Given the description of an element on the screen output the (x, y) to click on. 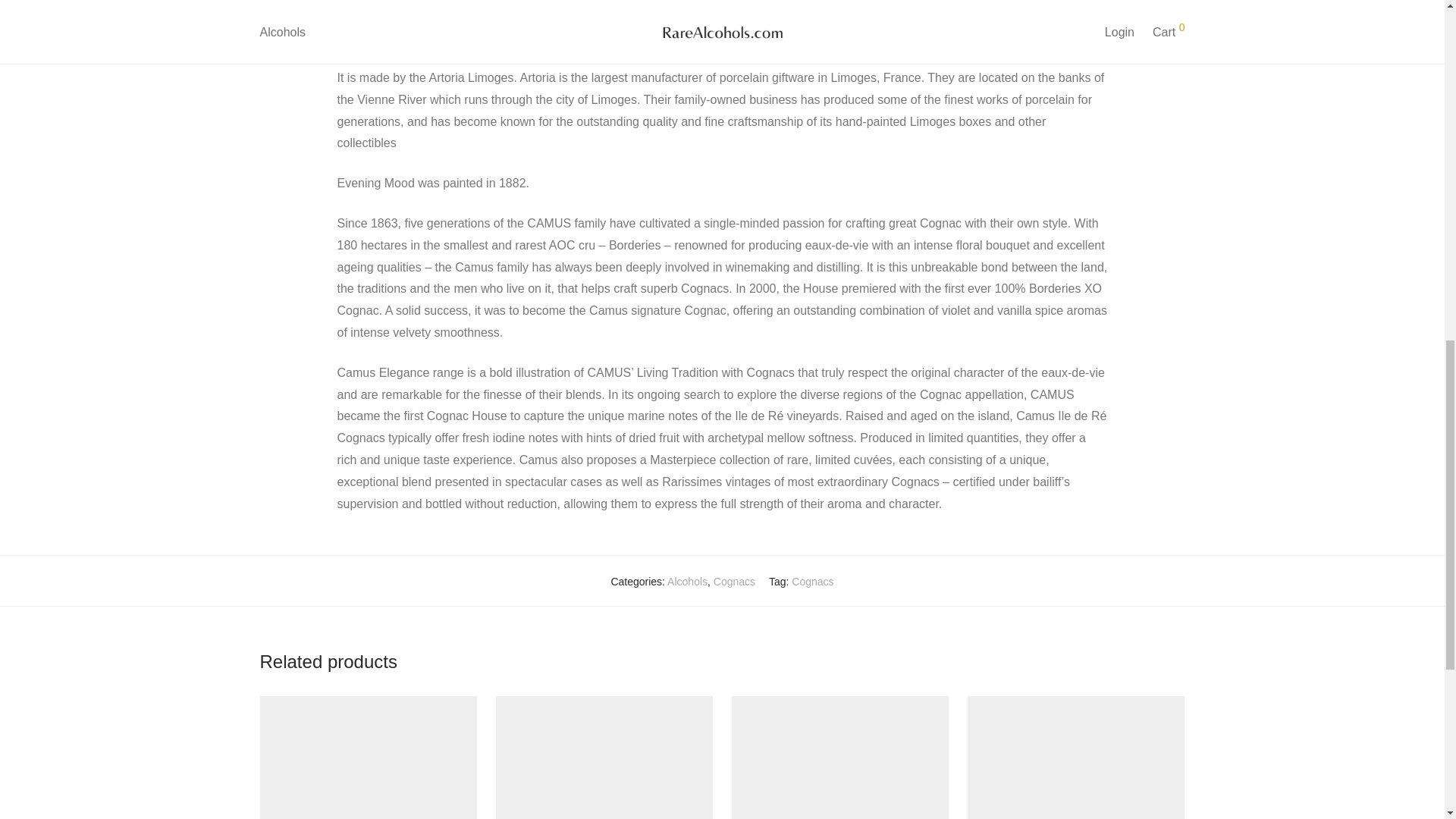
Description (651, 24)
Additional information (765, 24)
Cognacs (812, 581)
Alcohols (686, 581)
Cognacs (734, 581)
